Given the description of an element on the screen output the (x, y) to click on. 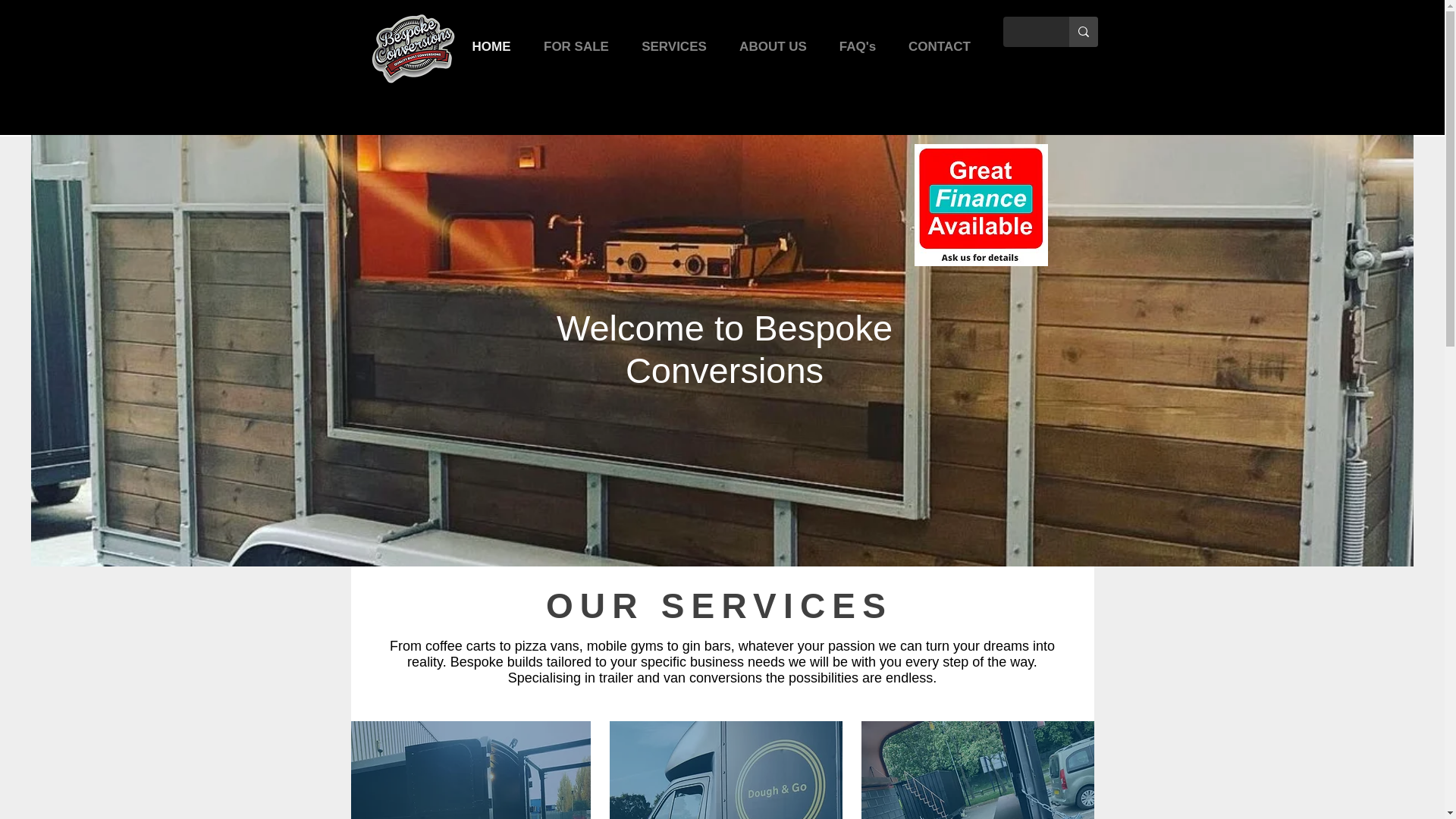
HOME (490, 46)
FAQ's (858, 46)
CONTACT (939, 46)
